Given the description of an element on the screen output the (x, y) to click on. 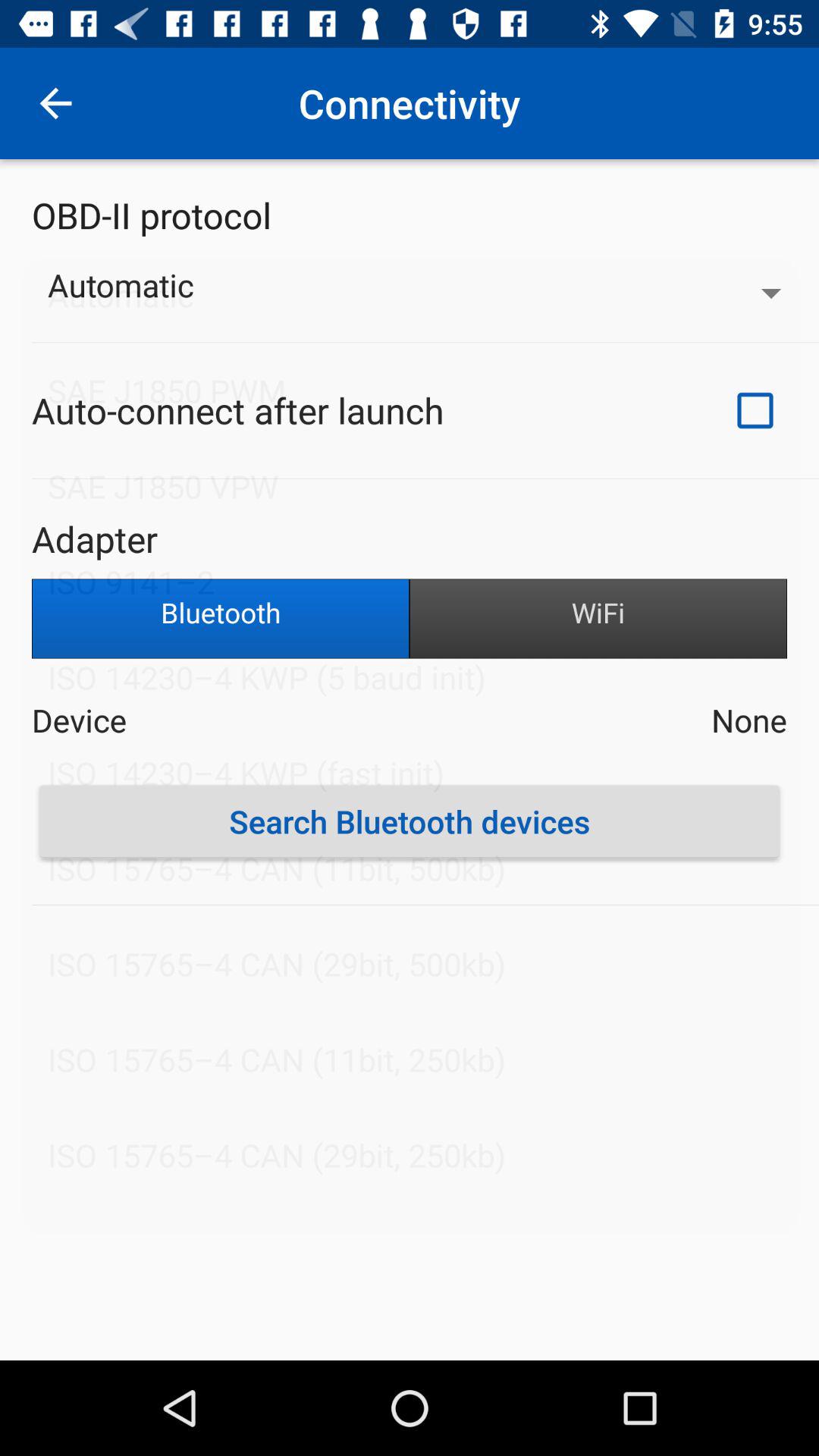
select icon below the adapter (598, 618)
